Given the description of an element on the screen output the (x, y) to click on. 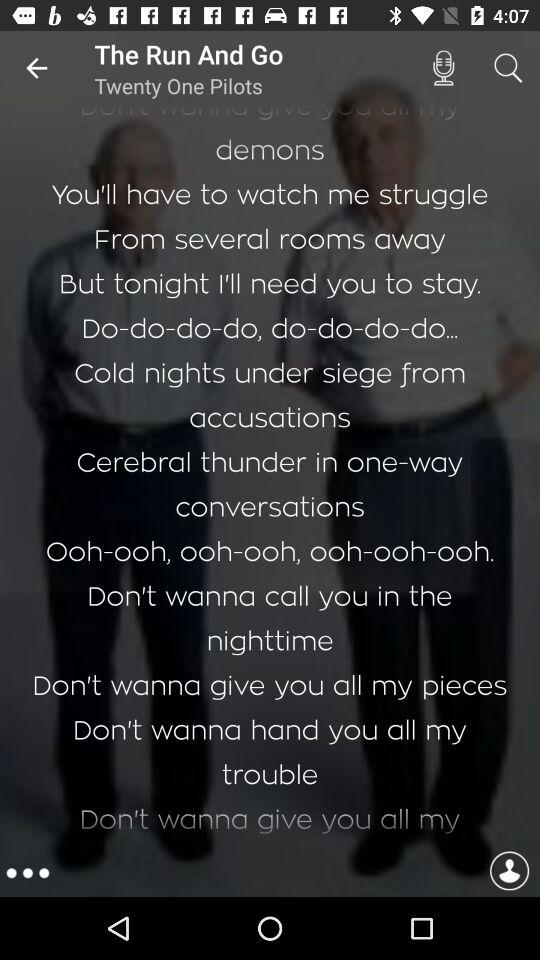
view profile (509, 873)
